Given the description of an element on the screen output the (x, y) to click on. 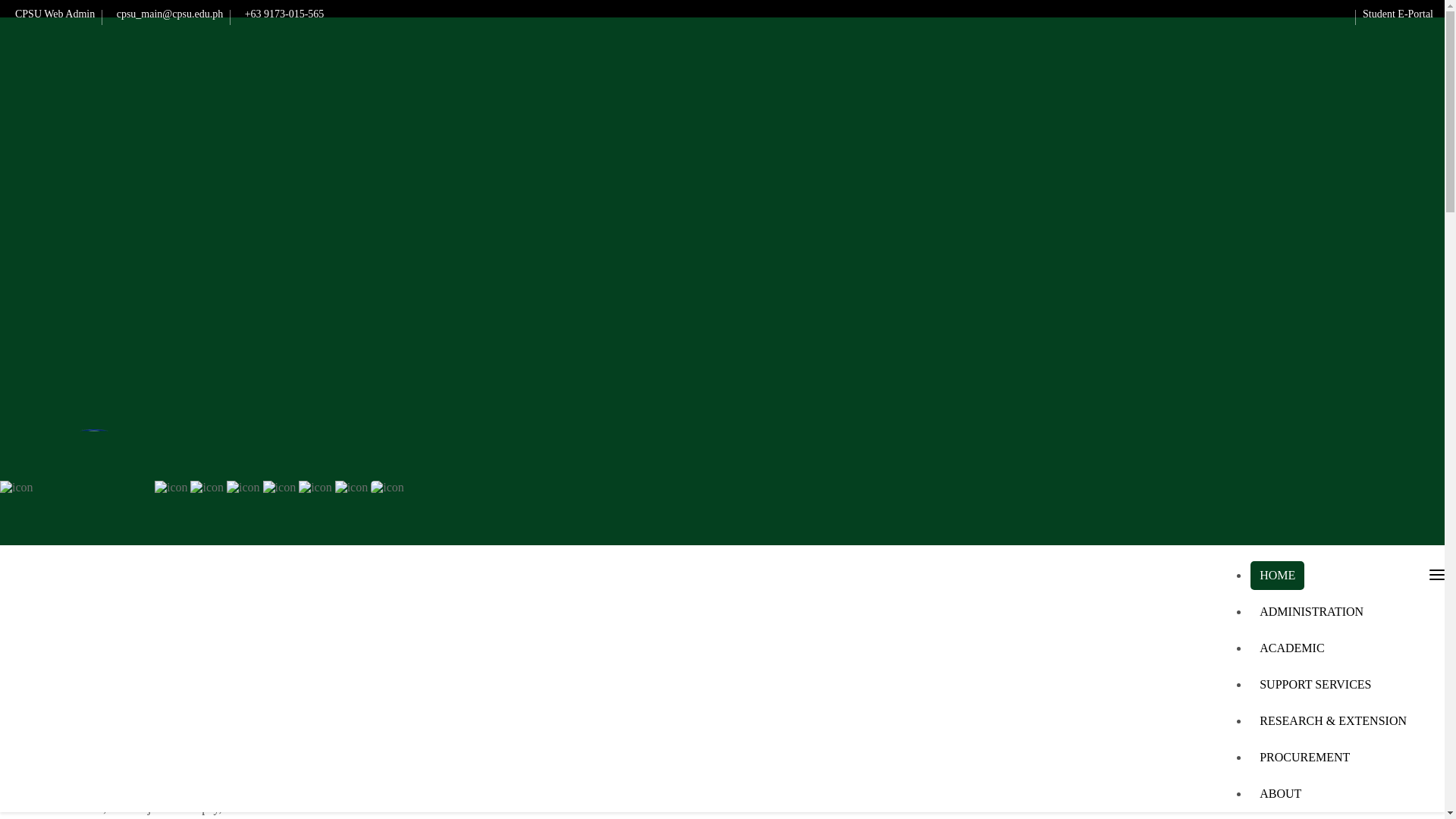
HOME (1277, 575)
ACADEMIC (1292, 647)
Student E-Portal (1397, 13)
ADMINISTRATION (1312, 611)
SUPPORT SERVICES (1315, 684)
CPSU Web Admin (52, 13)
